Given the description of an element on the screen output the (x, y) to click on. 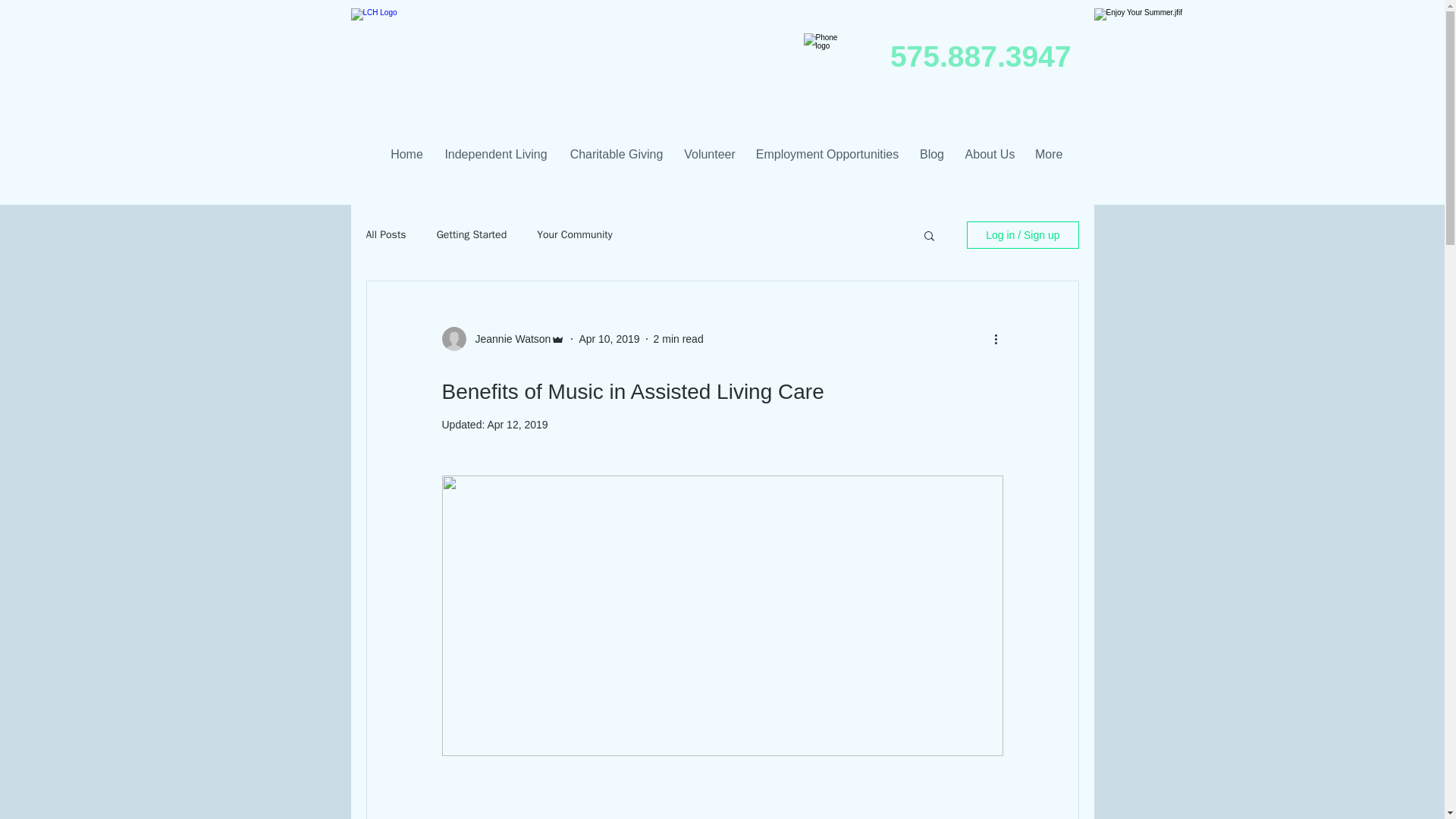
Jeannie Watson (507, 338)
All Posts (385, 234)
About Us (990, 147)
Blog (931, 147)
Apr 12, 2019 (516, 424)
Home (406, 147)
Charitable Giving (616, 147)
Your Community (574, 234)
Getting Started (471, 234)
2 min read (678, 337)
